Given the description of an element on the screen output the (x, y) to click on. 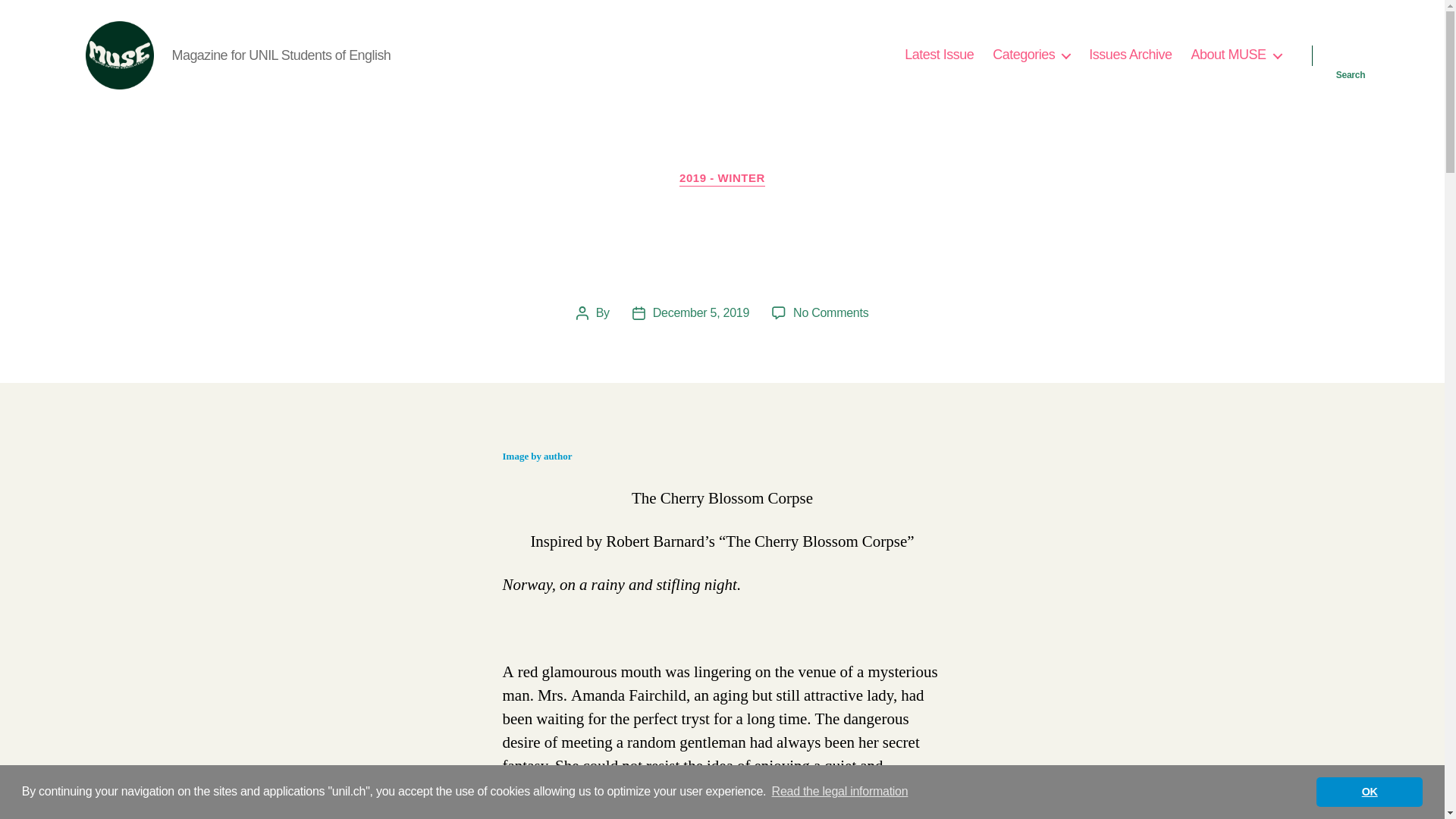
Read the legal information (839, 791)
About MUSE (1236, 54)
Categories (1031, 54)
Issues Archive (1130, 54)
Search (1350, 55)
Latest Issue (939, 54)
OK (1369, 791)
